Given the description of an element on the screen output the (x, y) to click on. 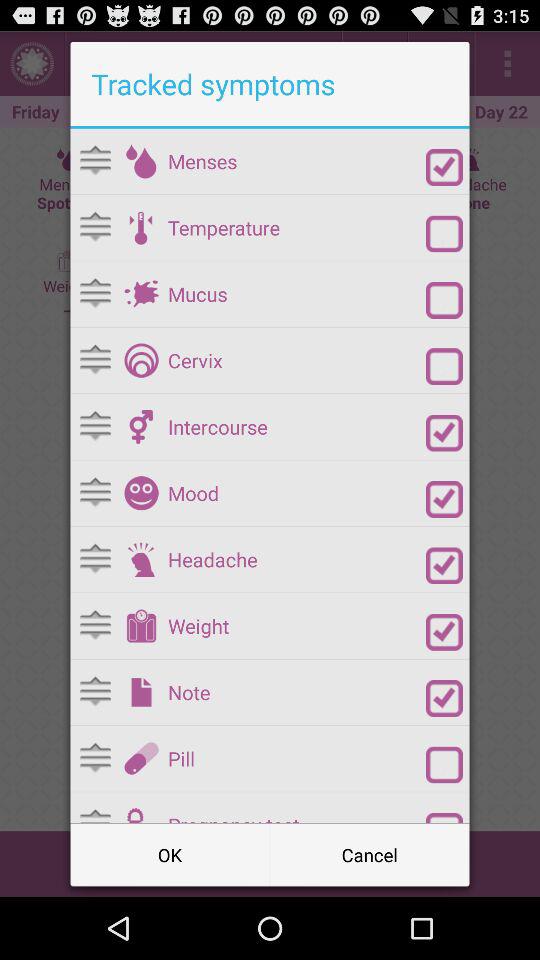
jump until note app (296, 692)
